Given the description of an element on the screen output the (x, y) to click on. 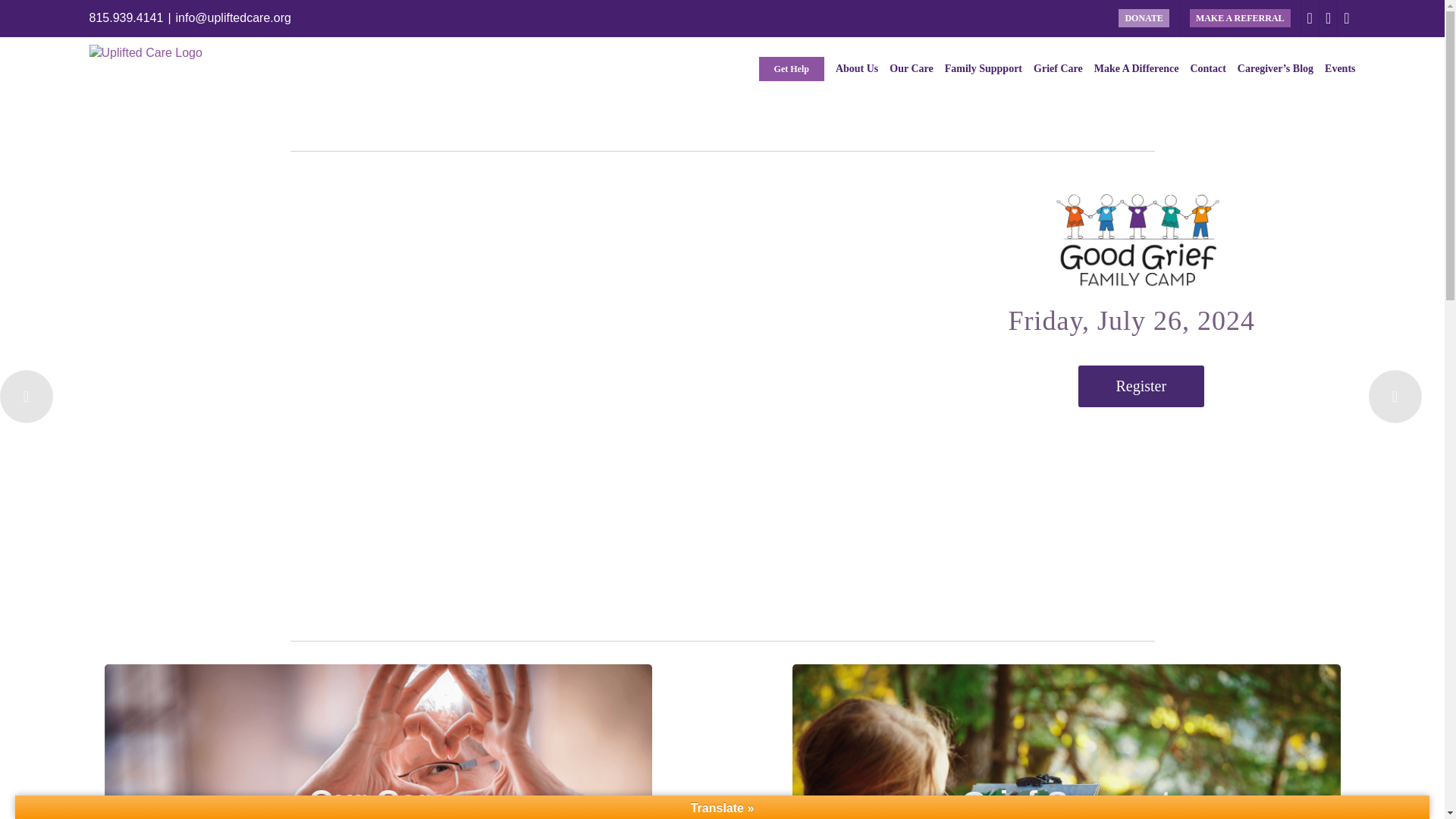
Family Suppport (983, 68)
Get Help (791, 68)
DONATE (1142, 18)
MAKE A REFERRAL (1239, 18)
815.939.4141 (125, 17)
